Given the description of an element on the screen output the (x, y) to click on. 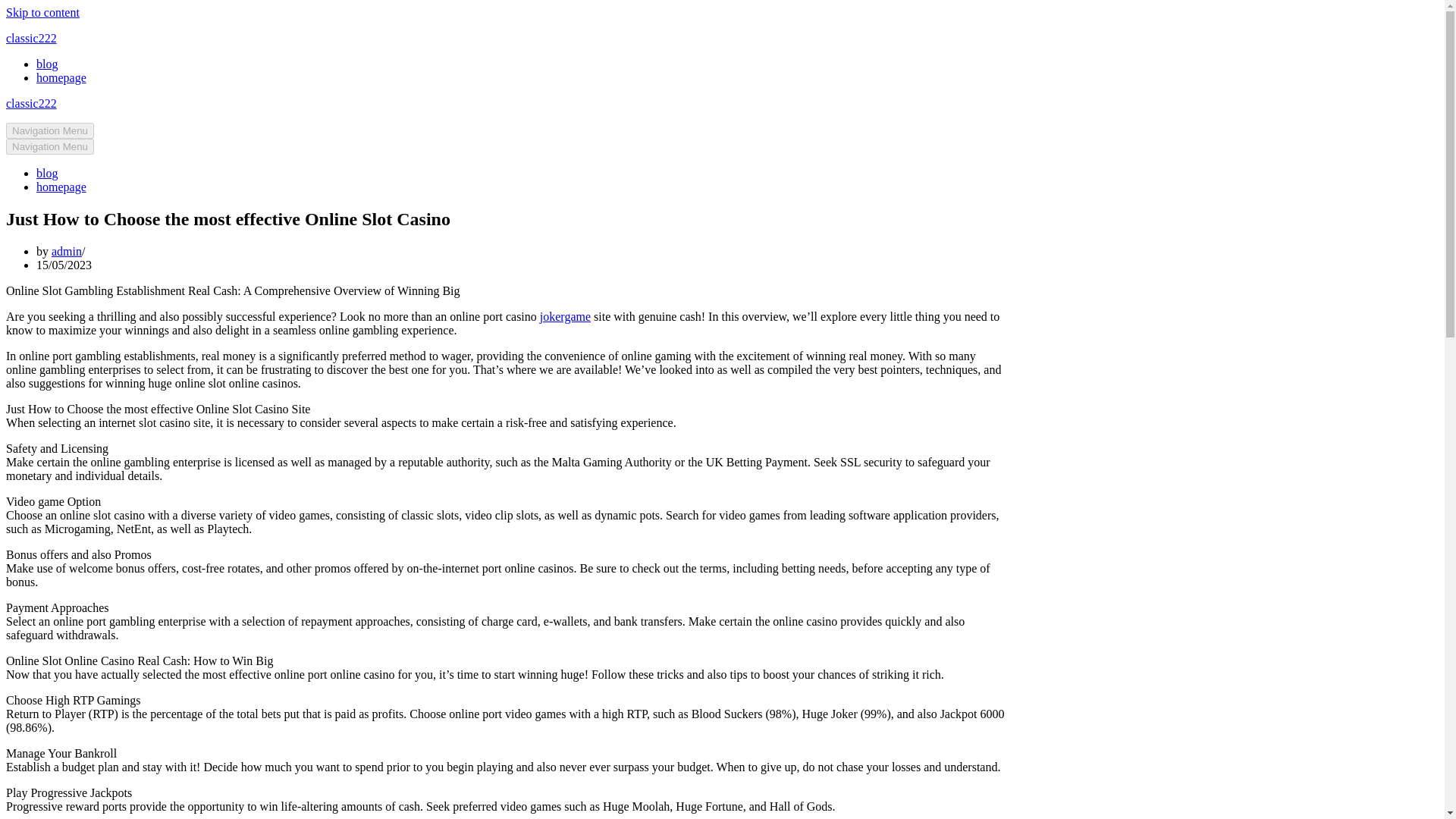
Navigation Menu (49, 146)
blog (47, 63)
jokergame (565, 316)
admin (65, 250)
homepage (60, 186)
Skip to content (42, 11)
Navigation Menu (49, 130)
blog (47, 173)
Posts by admin (65, 250)
homepage (60, 77)
